Given the description of an element on the screen output the (x, y) to click on. 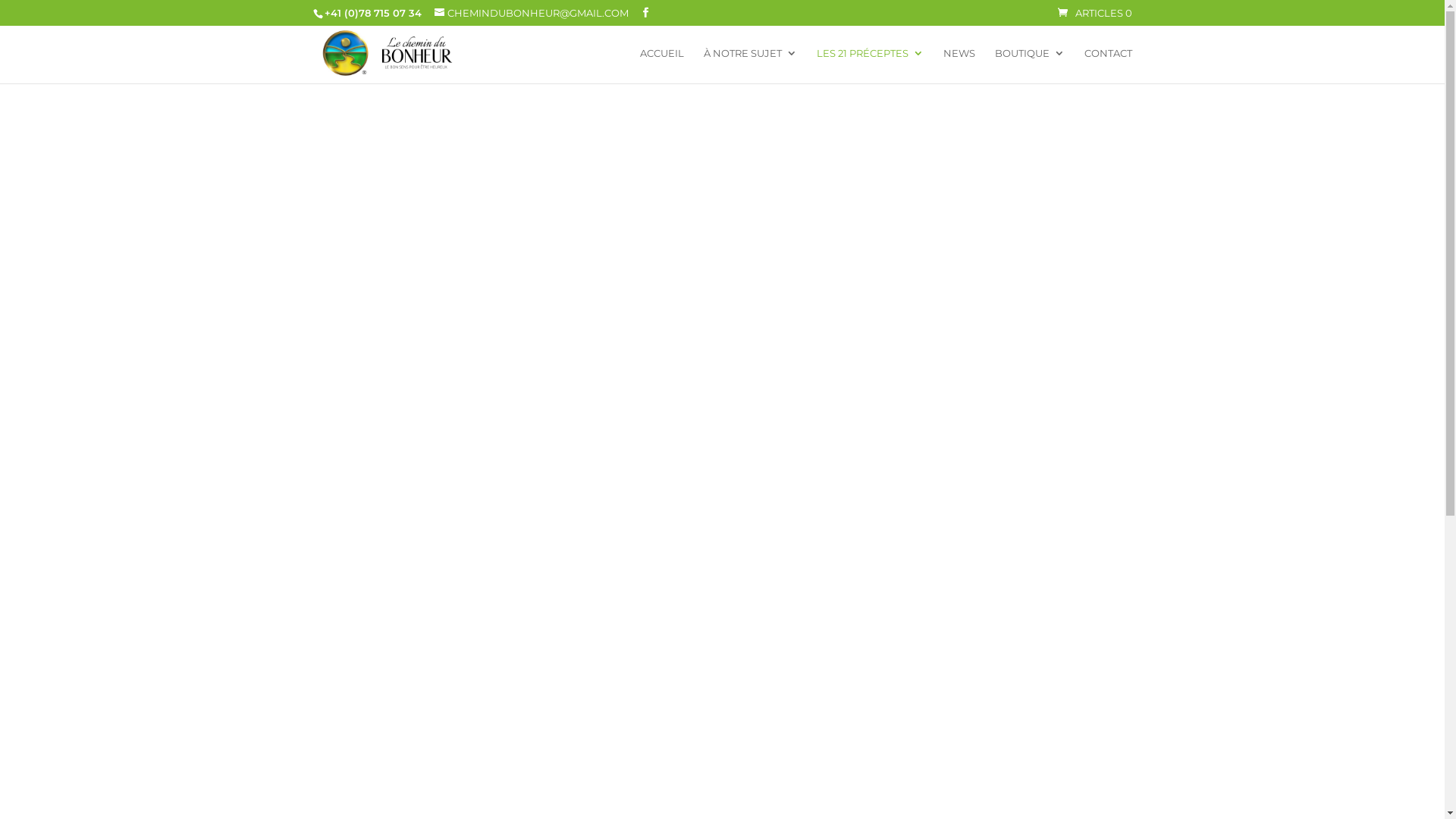
CONTACT Element type: text (1108, 65)
BOUTIQUE Element type: text (1029, 65)
NEWS Element type: text (959, 65)
ARTICLES 0 Element type: text (1094, 12)
ACCUEIL Element type: text (662, 65)
CHEMINDUBONHEUR@GMAIL.COM Element type: text (530, 12)
